Given the description of an element on the screen output the (x, y) to click on. 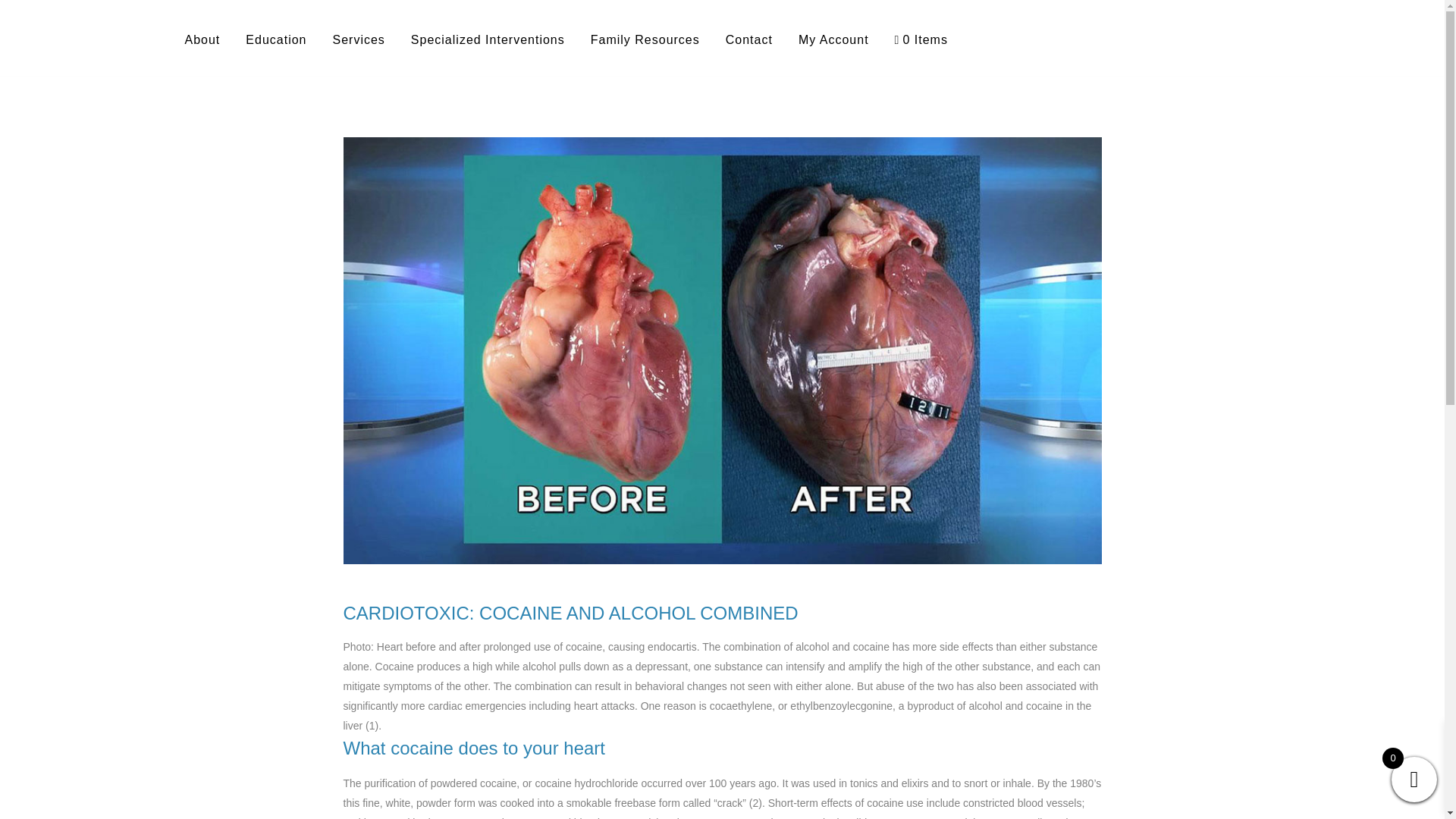
Specialized Interventions (487, 39)
About (201, 39)
Education (275, 39)
Services (357, 39)
Family Resources (645, 39)
Start shopping (921, 39)
